Given the description of an element on the screen output the (x, y) to click on. 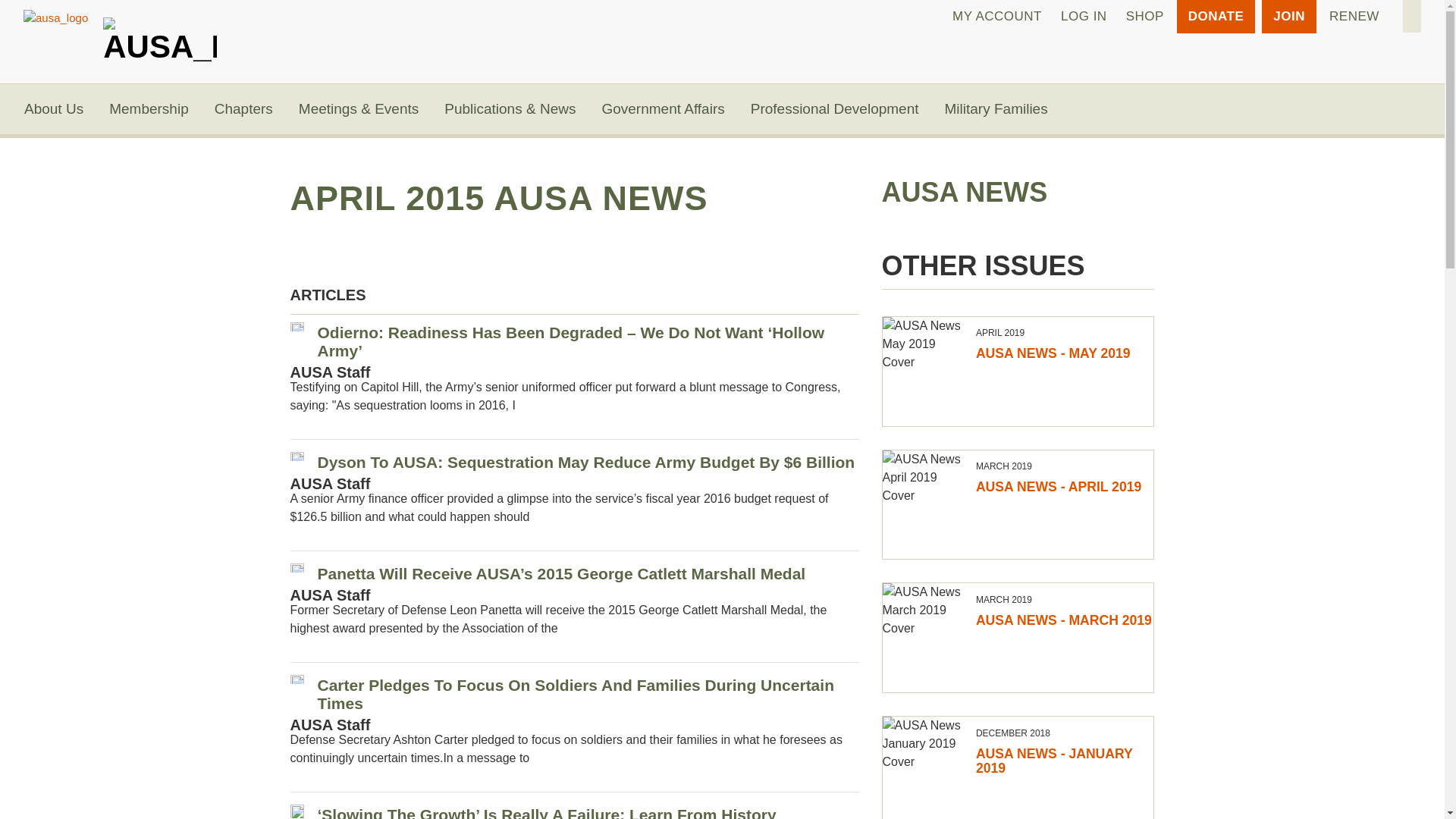
MY ACCOUNT (997, 16)
Membership (149, 109)
SHOP (1144, 16)
DONATE (1215, 16)
Association of the United States Army (159, 35)
RENEW (1354, 16)
Chapters (243, 109)
LOG IN (1083, 16)
Skip to main content (721, 1)
JOIN (1289, 16)
About Us (53, 109)
ASSOCIATION OF THE UNITED STATES ARMY (159, 35)
